Given the description of an element on the screen output the (x, y) to click on. 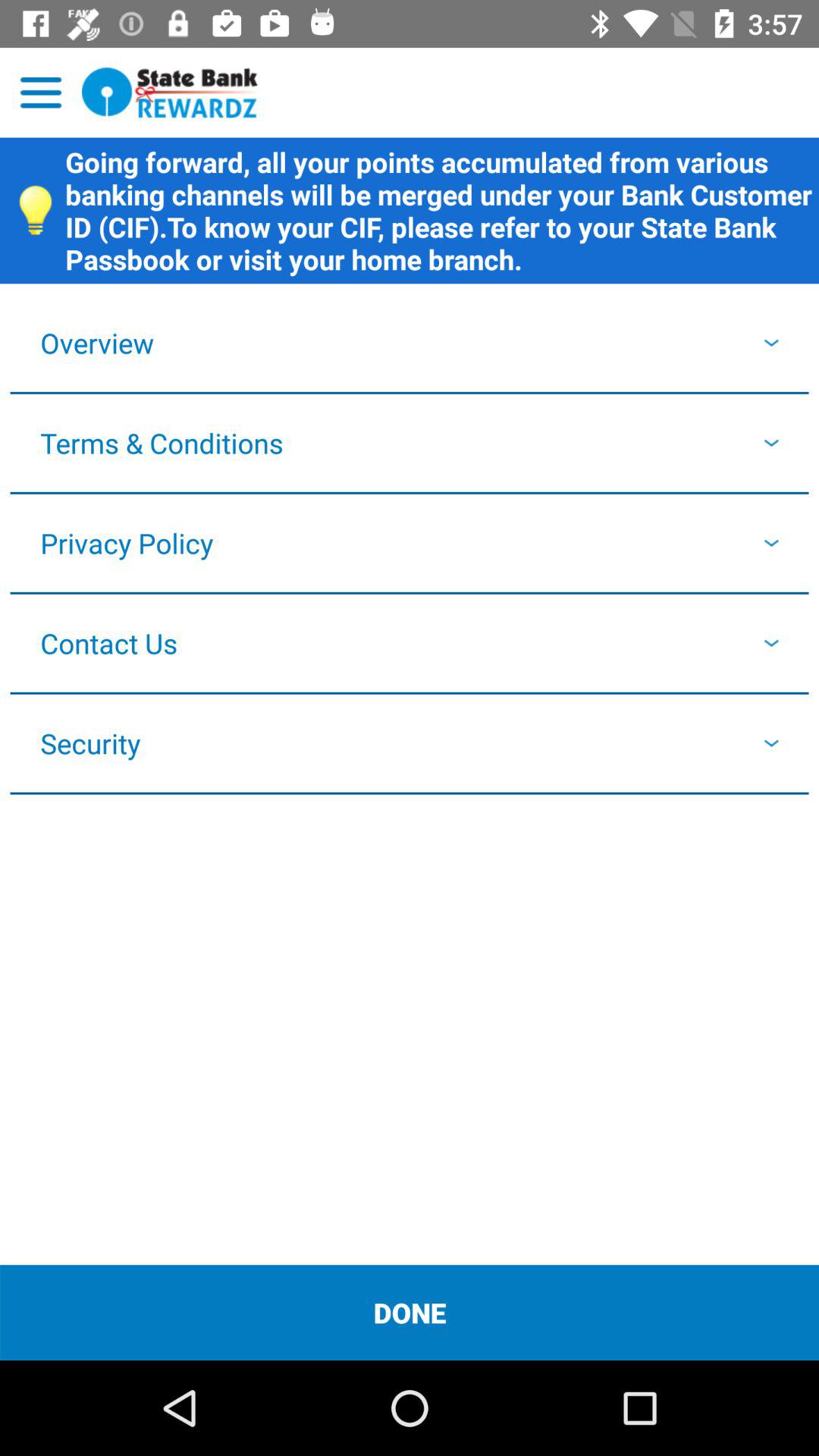
name of the bank (169, 92)
